Given the description of an element on the screen output the (x, y) to click on. 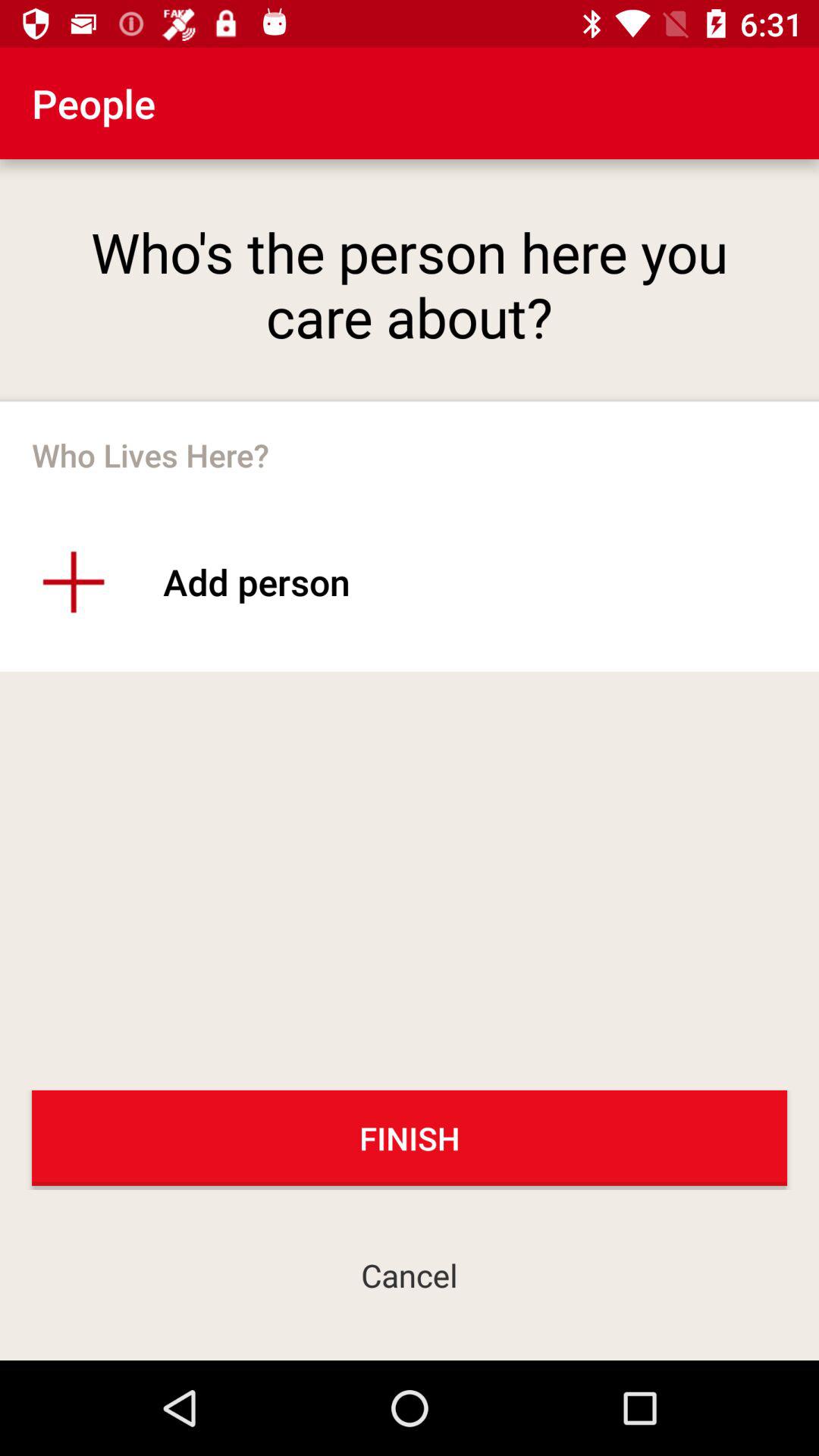
swipe until finish item (409, 1137)
